Given the description of an element on the screen output the (x, y) to click on. 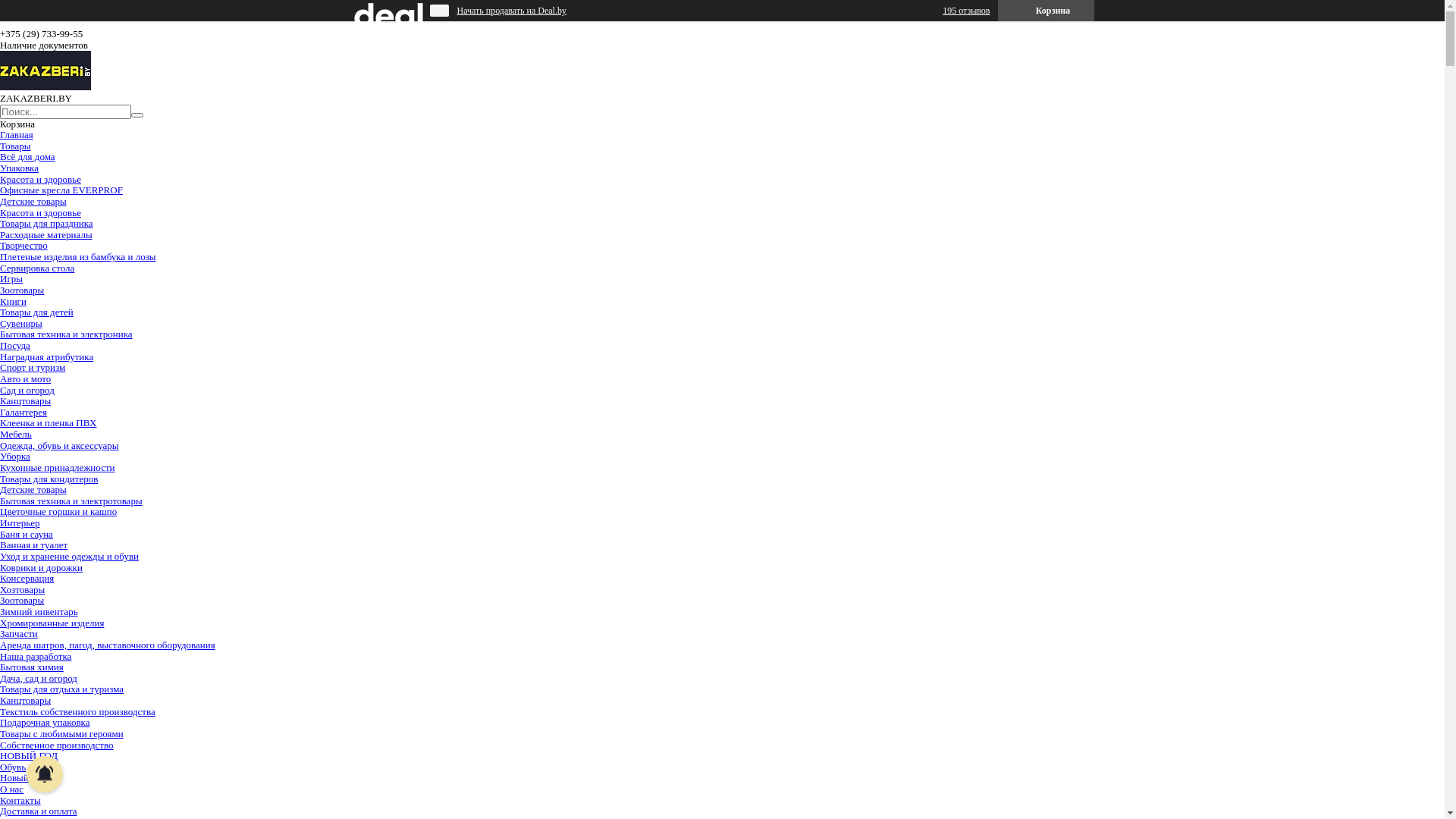
ZAKAZBERI.BY Element type: hover (45, 86)
